Given the description of an element on the screen output the (x, y) to click on. 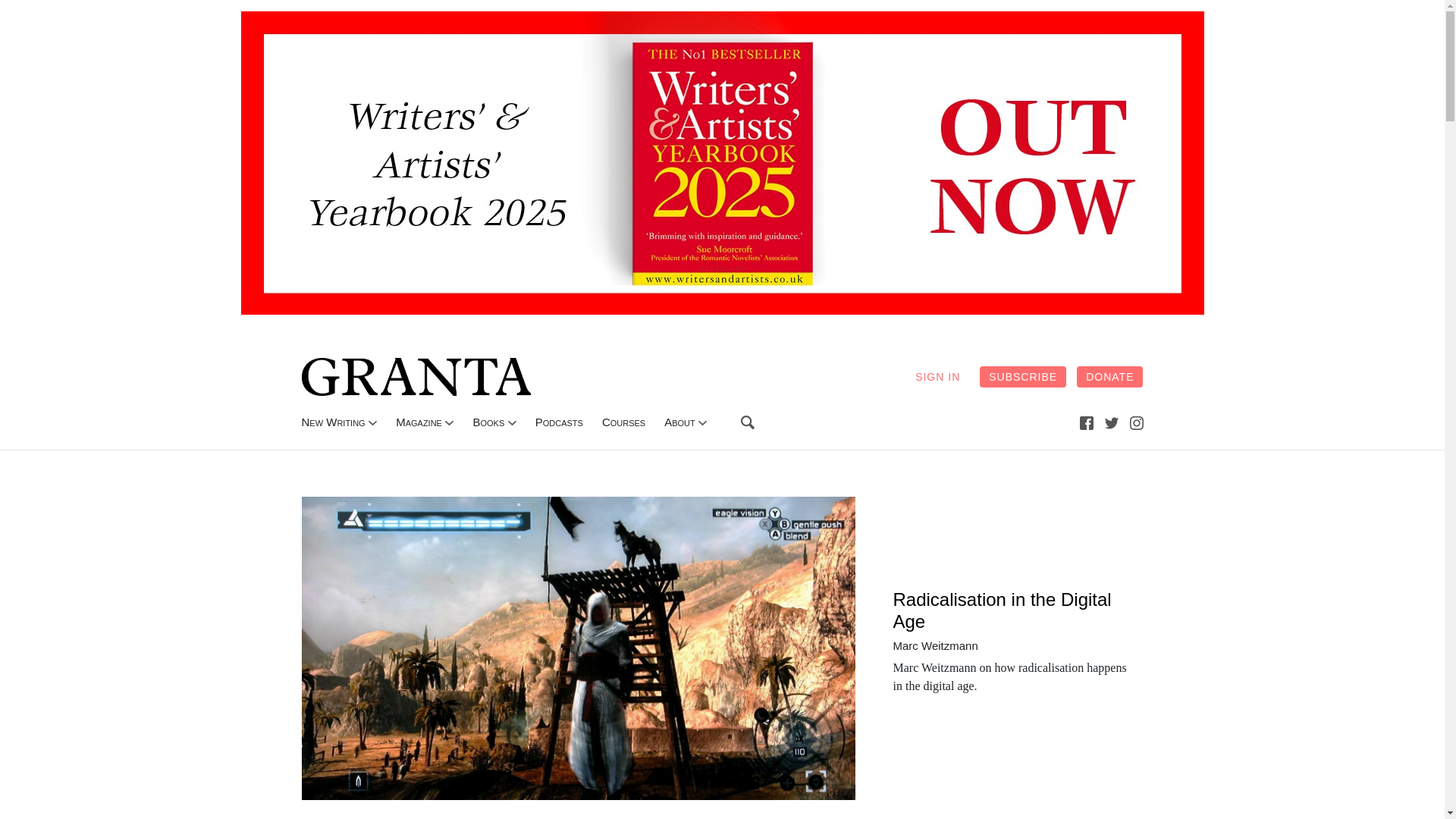
magazine (419, 421)
books (487, 421)
New Writing (333, 421)
twitter Created with Sketch. (1111, 422)
Magazine (419, 421)
About (679, 421)
twitter Created with Sketch. (1111, 421)
facebook Created with Sketch. (1086, 422)
Podcasts (559, 421)
podcasts (559, 421)
